Given the description of an element on the screen output the (x, y) to click on. 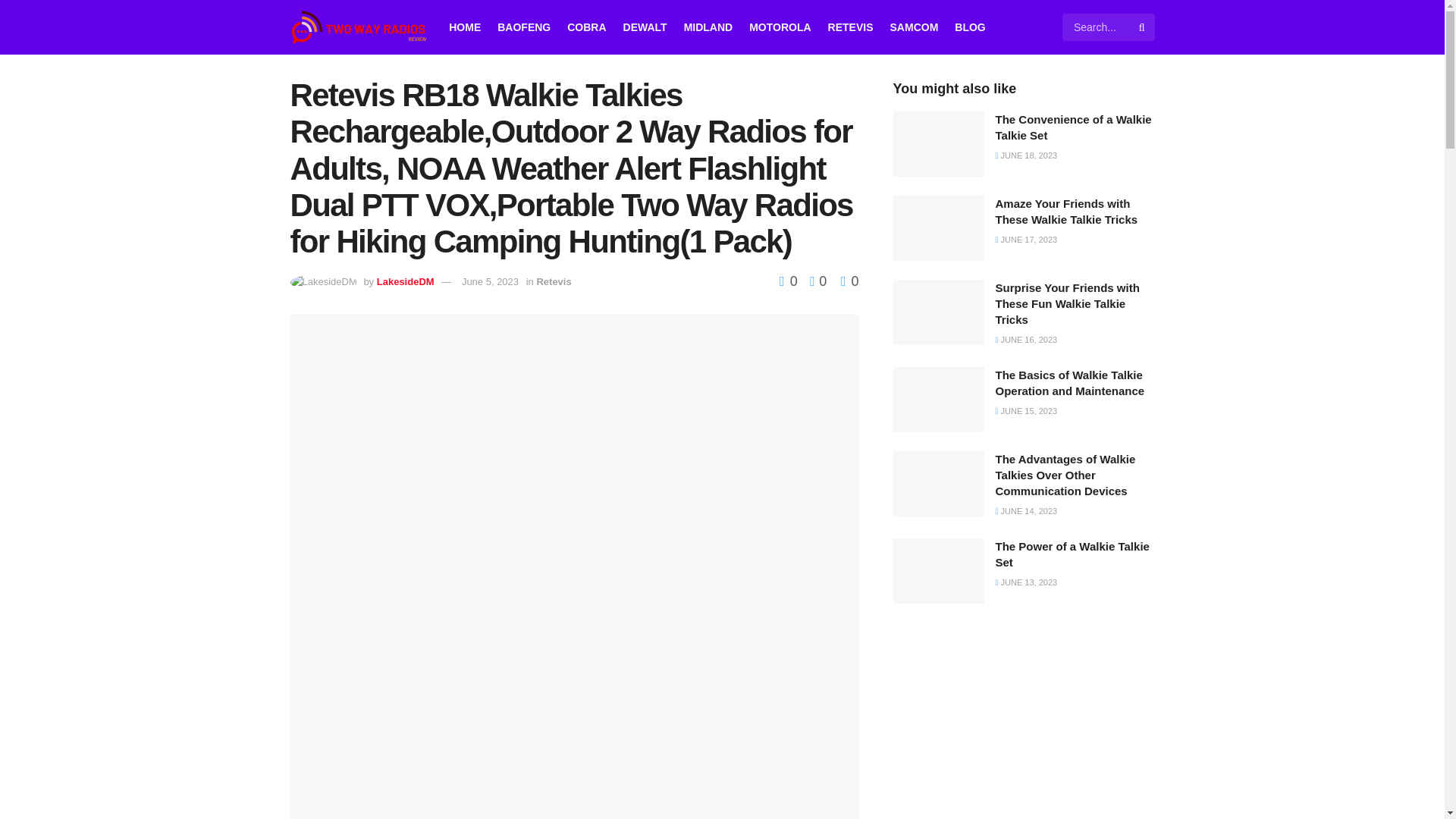
LakesideDM (405, 281)
MOTOROLA (779, 27)
0 (814, 281)
BAOFENG (523, 27)
0 (790, 281)
MIDLAND (708, 27)
June 5, 2023 (489, 281)
Retevis (552, 281)
0 (850, 281)
